Given the description of an element on the screen output the (x, y) to click on. 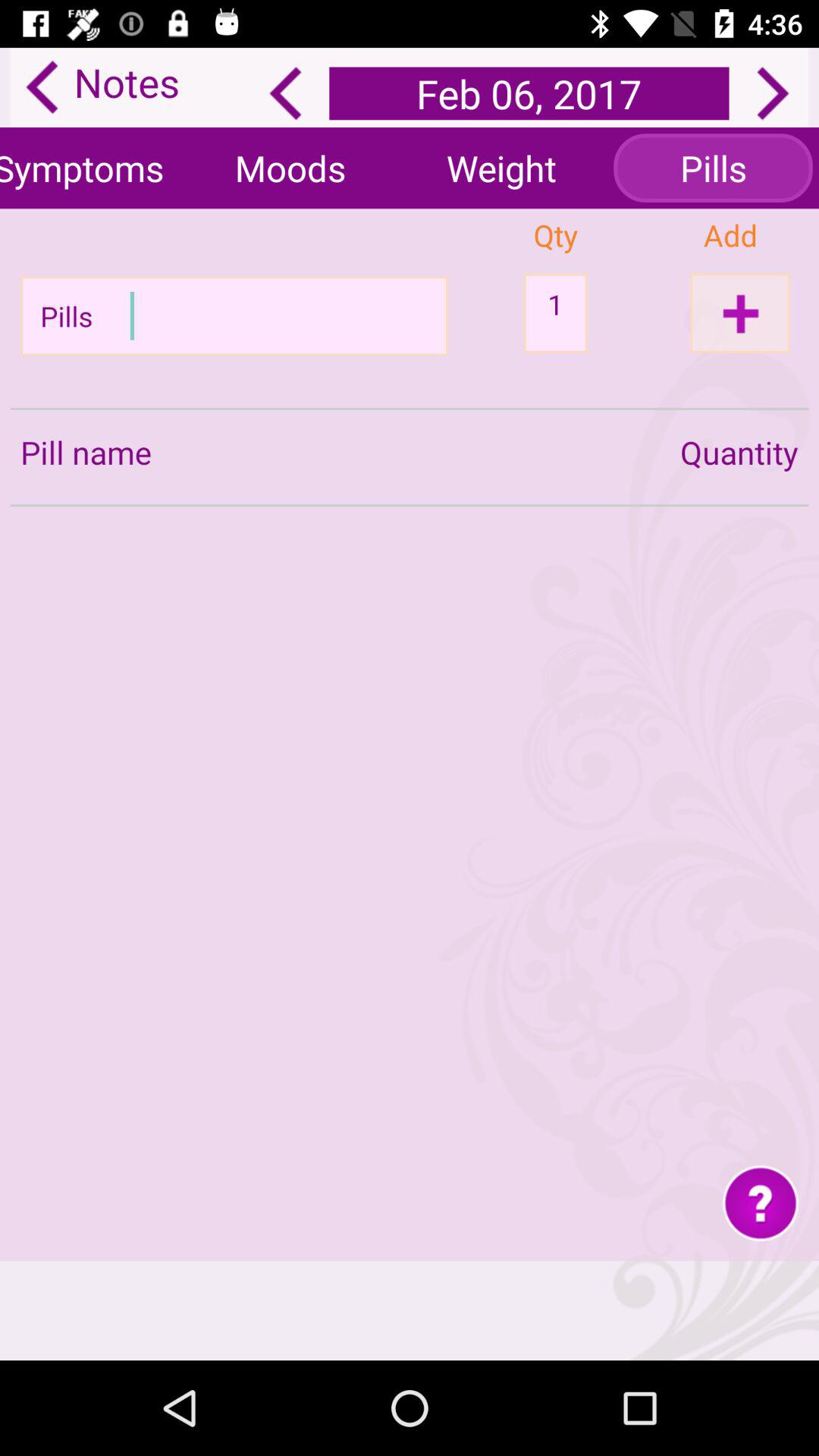
go back (285, 93)
